Given the description of an element on the screen output the (x, y) to click on. 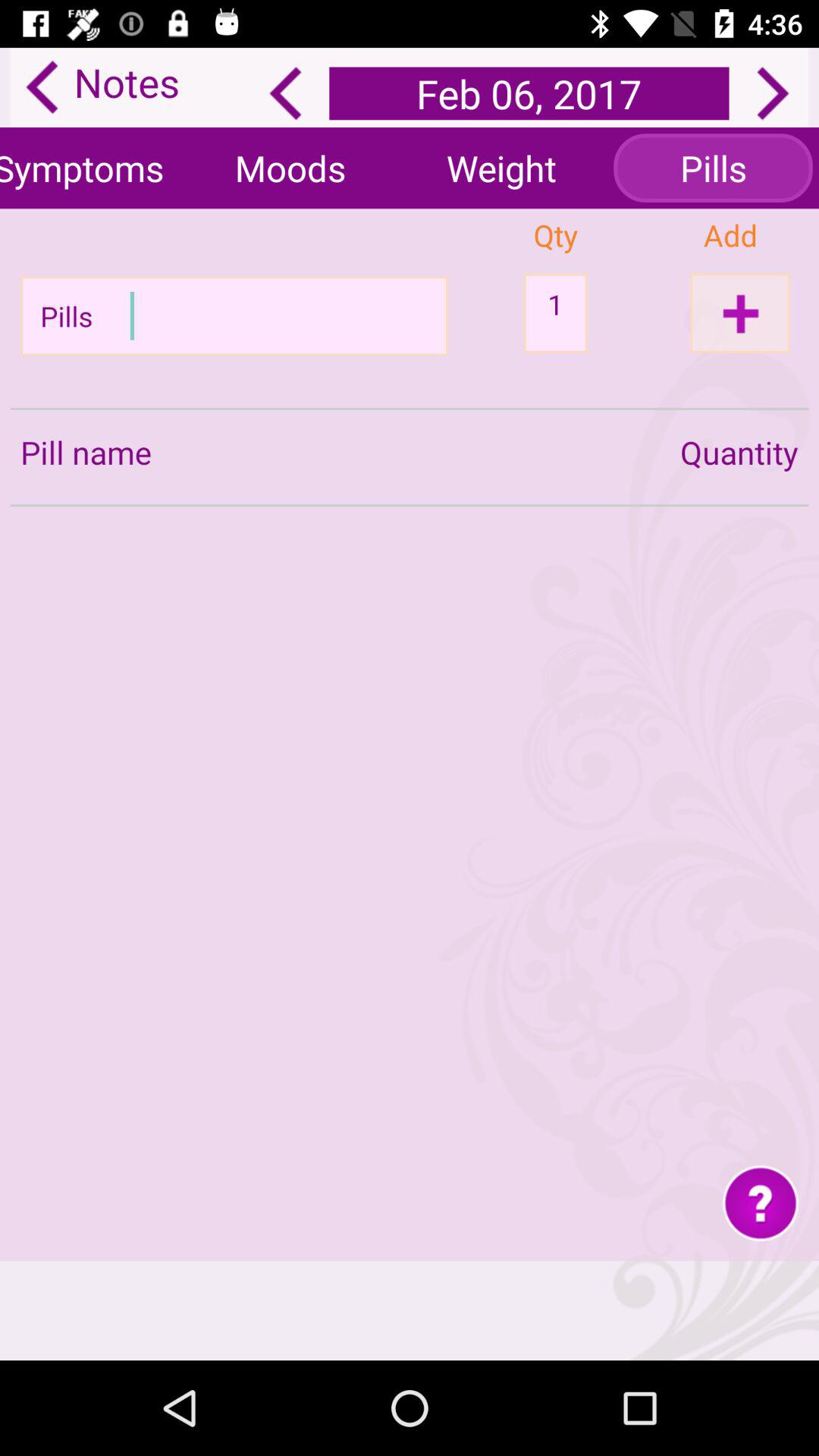
go back (285, 93)
